Given the description of an element on the screen output the (x, y) to click on. 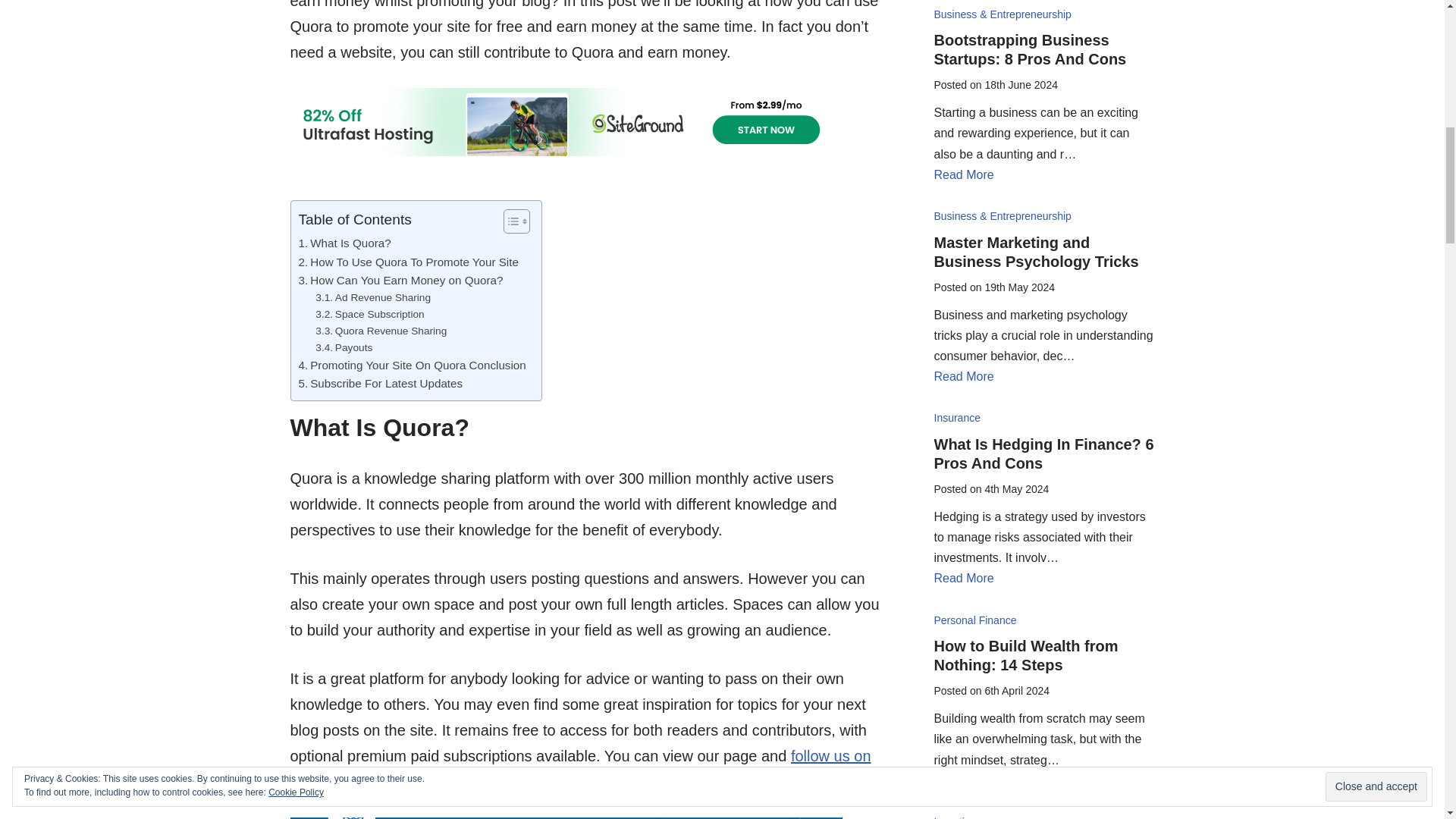
How Can You Earn Money on Quora? (400, 280)
Space Subscription (369, 314)
How To Use Quora To Promote Your Site (408, 262)
Ad Revenue Sharing (372, 297)
Quora Revenue Sharing (380, 330)
What Is Quora? (344, 243)
